Given the description of an element on the screen output the (x, y) to click on. 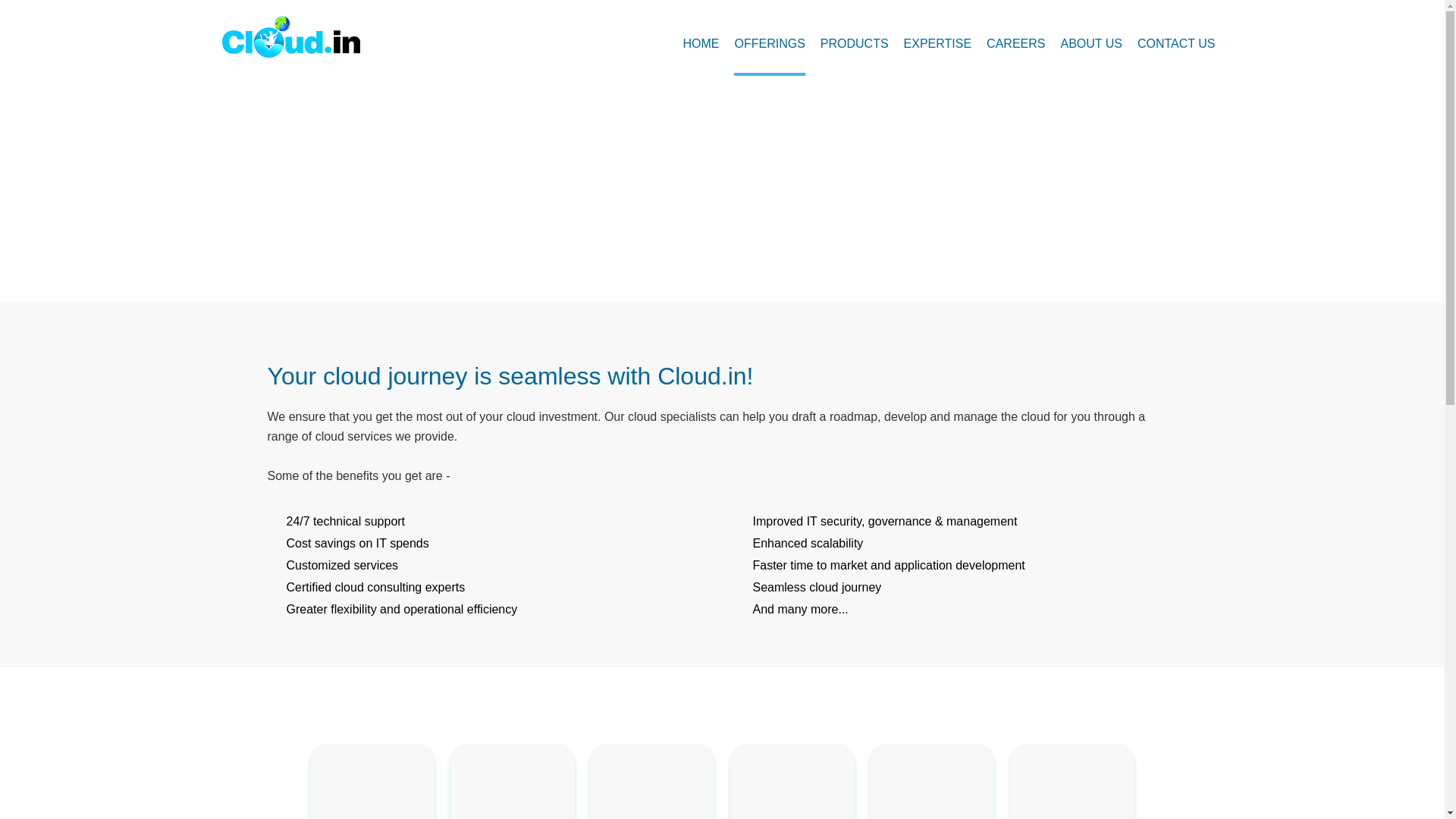
OFFERINGS (769, 44)
Managed Services (792, 787)
Home (692, 235)
EXPERTISE (938, 44)
Consulting Services (513, 787)
CONTACT US (1176, 44)
Migration Services (651, 787)
HOME (700, 44)
Billing Services (932, 787)
PRODUCTS (854, 44)
ABOUT US (1090, 44)
CAREERS (1016, 44)
